Given the description of an element on the screen output the (x, y) to click on. 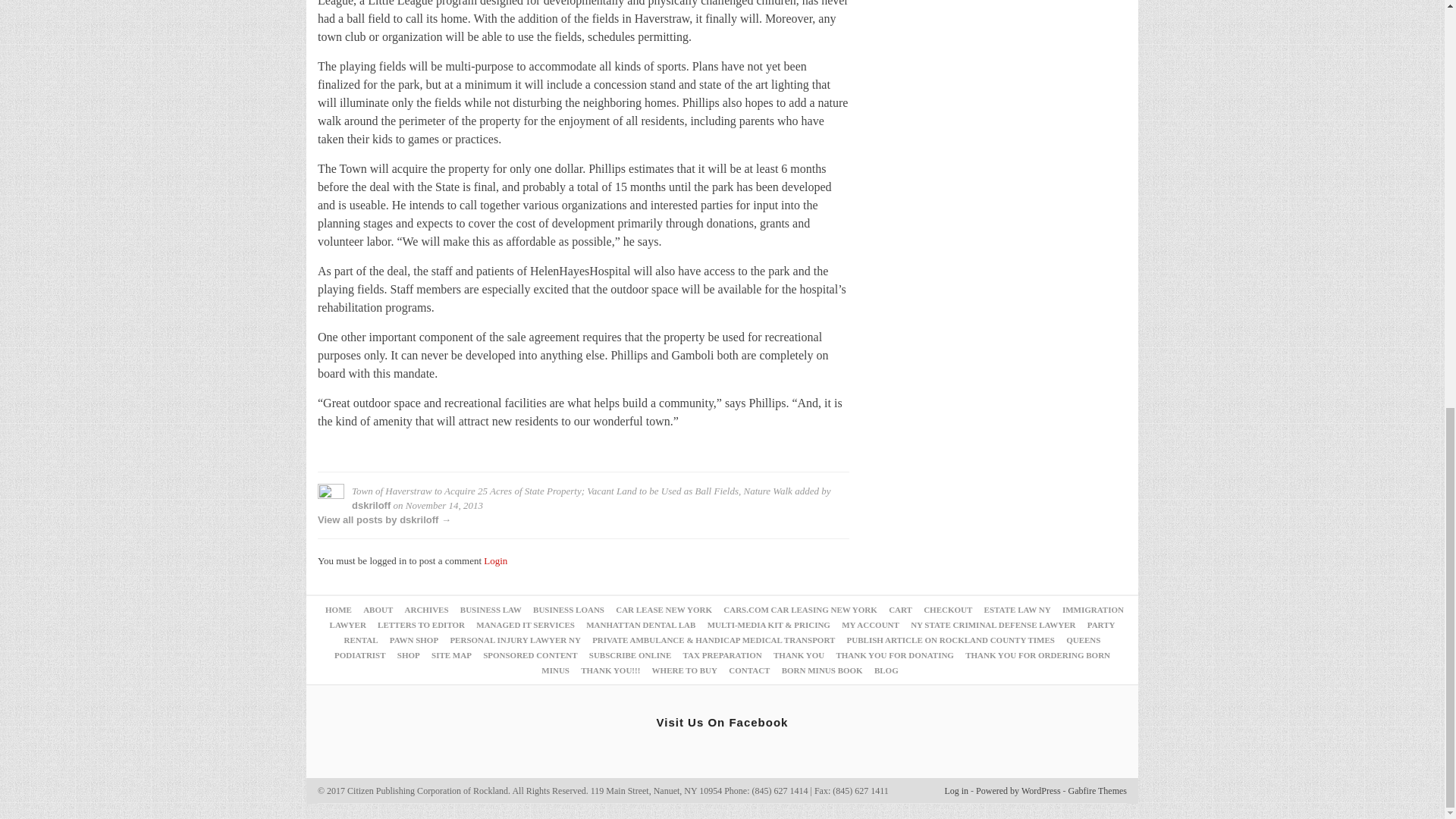
HOME (338, 609)
dskriloff (371, 505)
Semantic Personal Publishing Platform (1017, 790)
WordPress Newspaper Themes (1097, 790)
Login (494, 560)
